Given the description of an element on the screen output the (x, y) to click on. 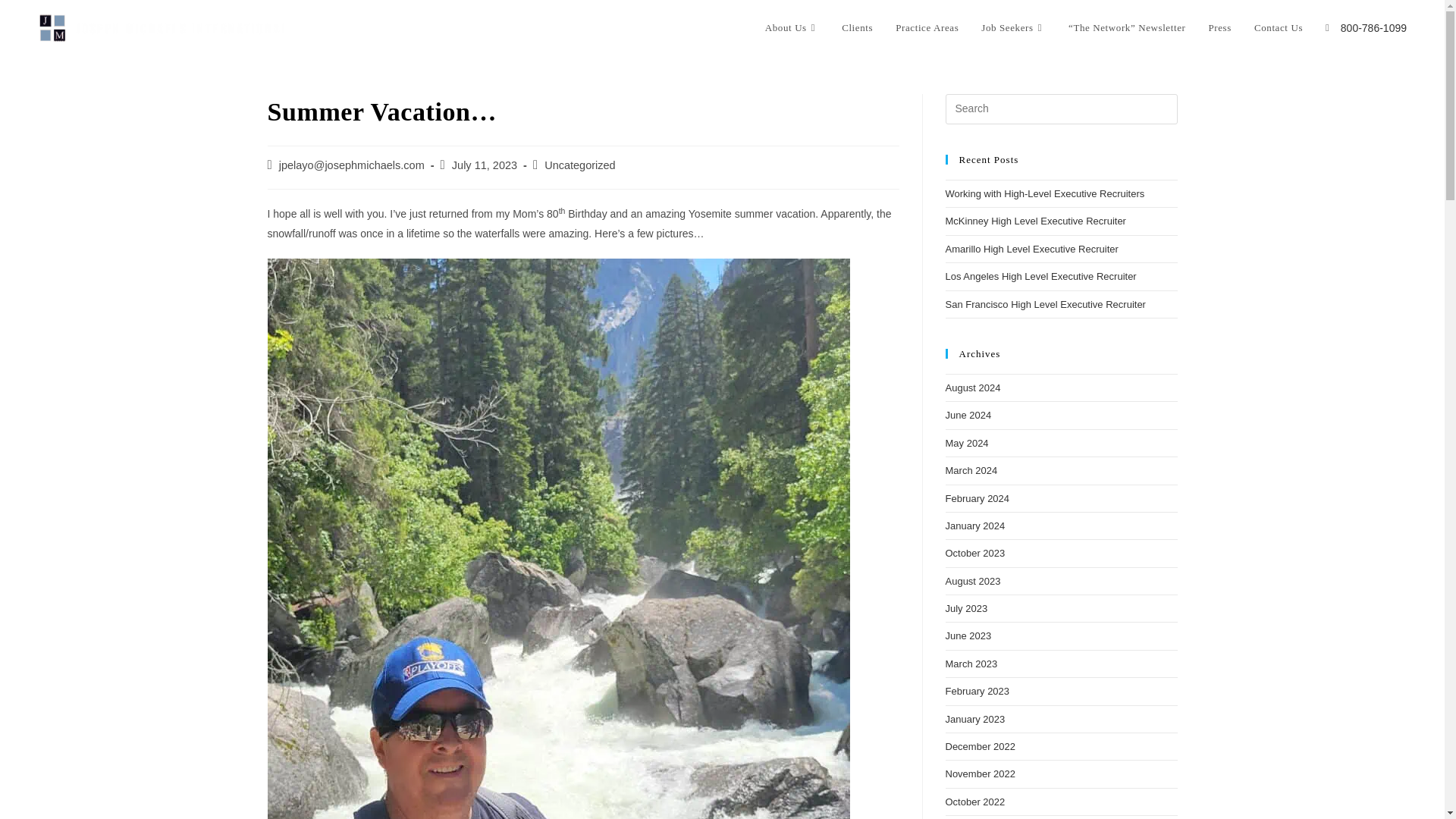
Uncategorized (579, 164)
About Us (791, 28)
Practice Areas (926, 28)
800-786-1099 (1373, 28)
Job Seekers (1013, 28)
Clients (856, 28)
Contact Us (1278, 28)
